Given the description of an element on the screen output the (x, y) to click on. 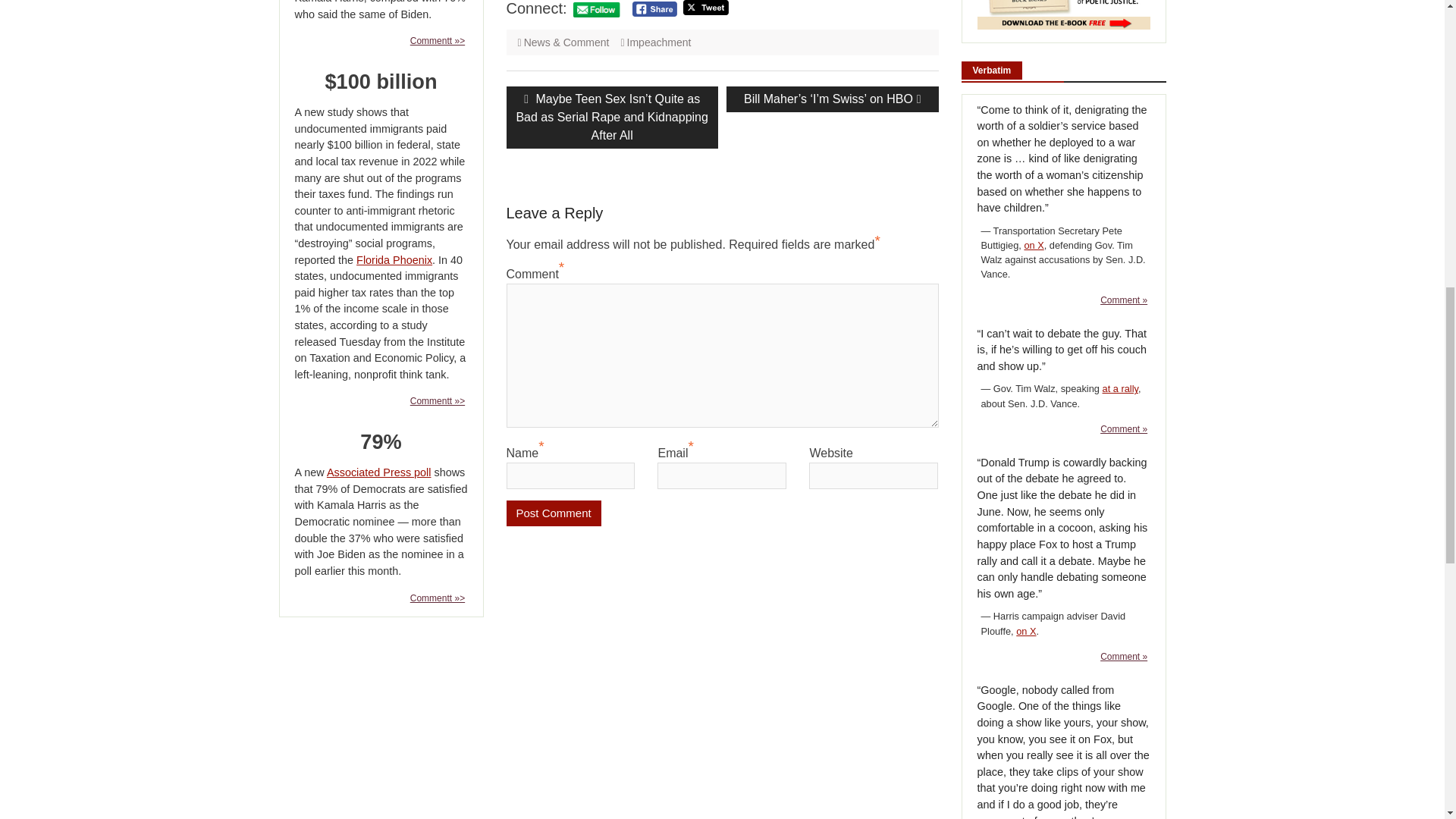
Facebook Share (654, 8)
Impeachment (659, 42)
Post Comment (553, 513)
Permanent Link to Walz Ready to Debate Vance (1123, 429)
Tweet (705, 7)
